Given the description of an element on the screen output the (x, y) to click on. 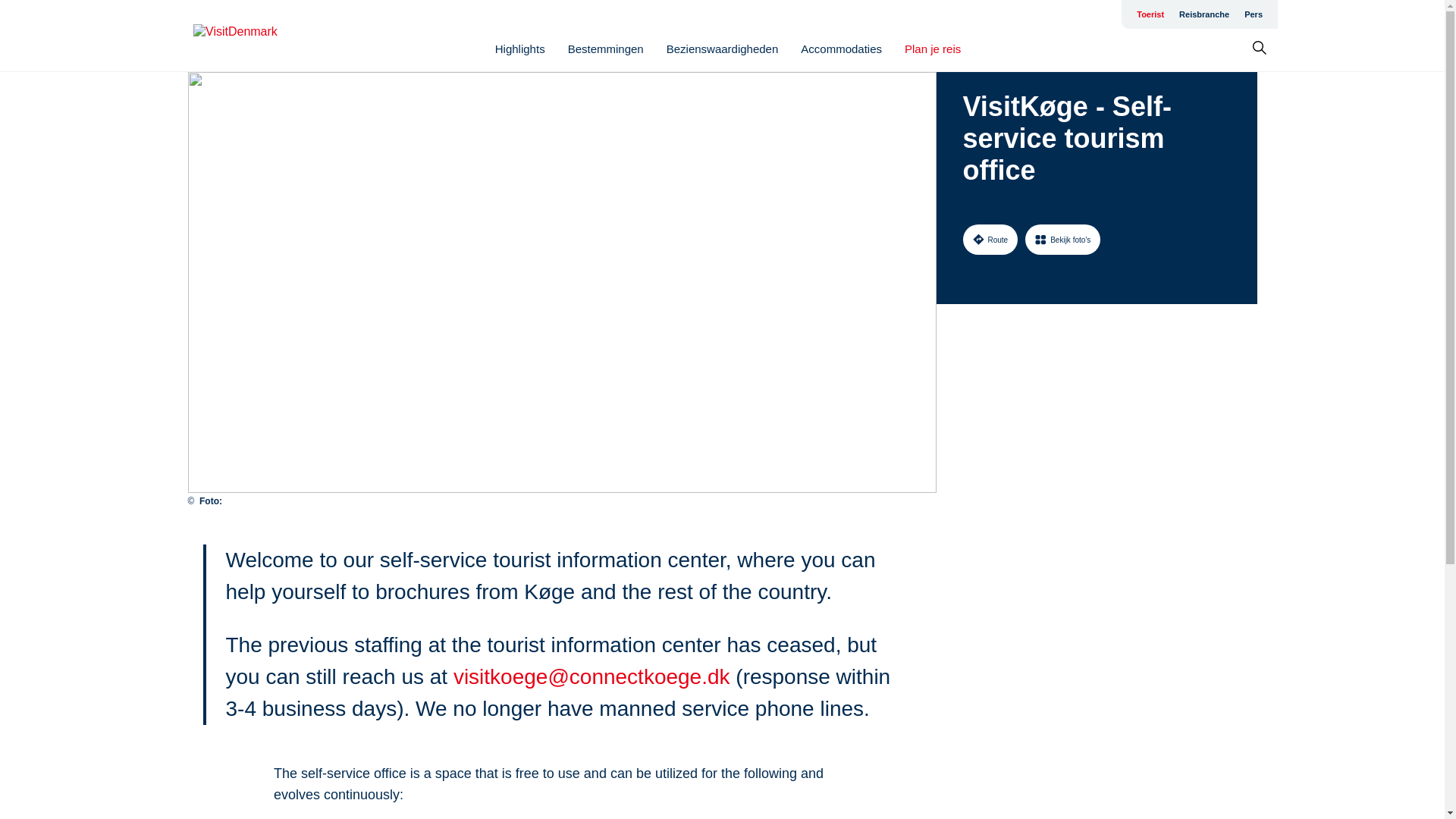
Pers (1252, 14)
Route (989, 239)
Reisbranche (1204, 14)
Highlights (519, 48)
Go to homepage (253, 35)
Bestemmingen (605, 48)
Bezienswaardigheden (722, 48)
Accommodaties (841, 48)
Toerist (1150, 14)
Plan je reis (932, 48)
